Given the description of an element on the screen output the (x, y) to click on. 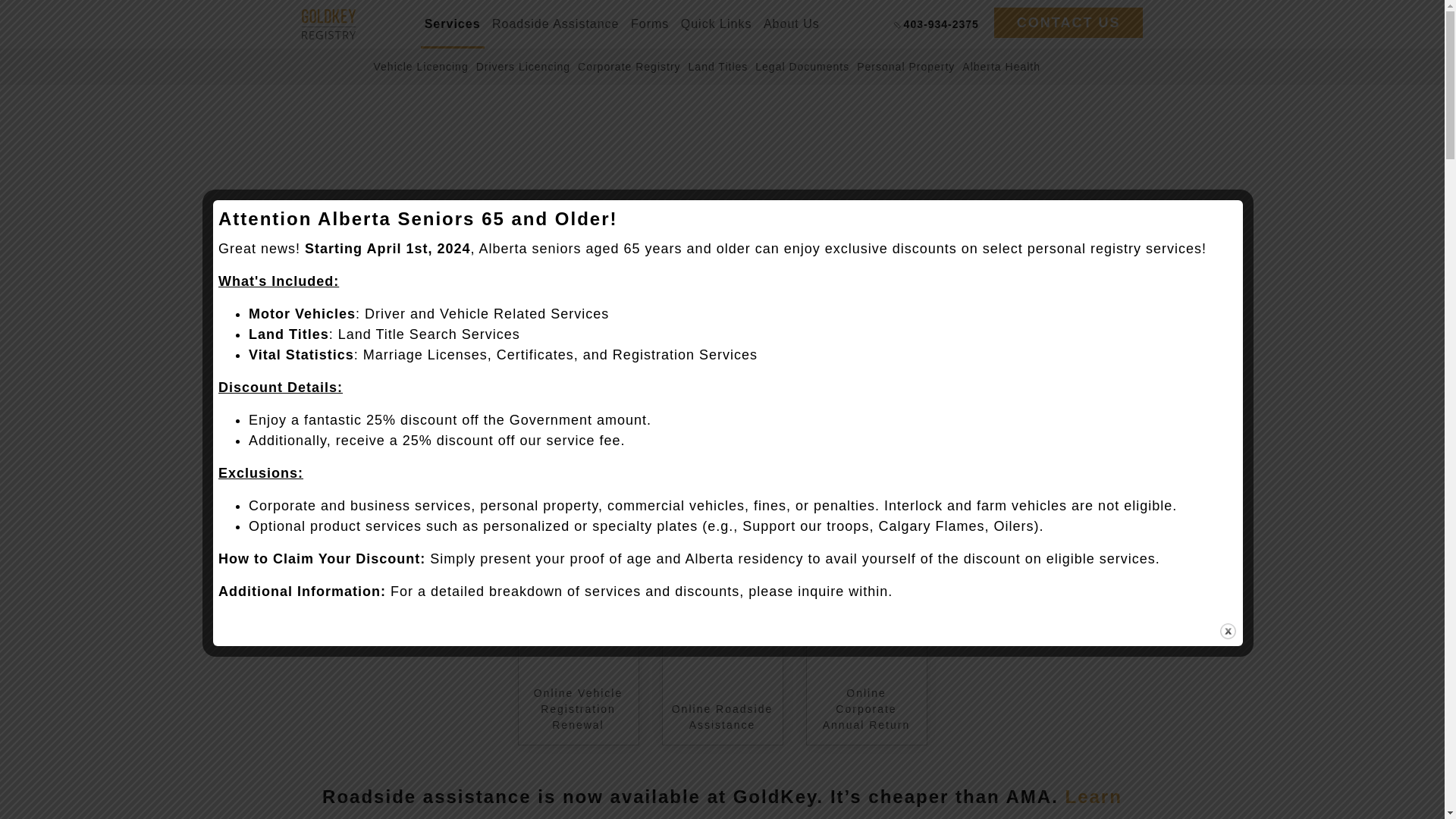
About Us (790, 24)
Legal Documents (801, 66)
Services (452, 24)
Vehicle Licencing (419, 66)
Quick Links (716, 24)
Drivers Licencing (523, 66)
CONTACT US (1068, 22)
403-934-2375 (936, 24)
Land Titles (718, 66)
Roadside Assistance (556, 24)
Corporate Registry (629, 66)
Close (1228, 631)
